Given the description of an element on the screen output the (x, y) to click on. 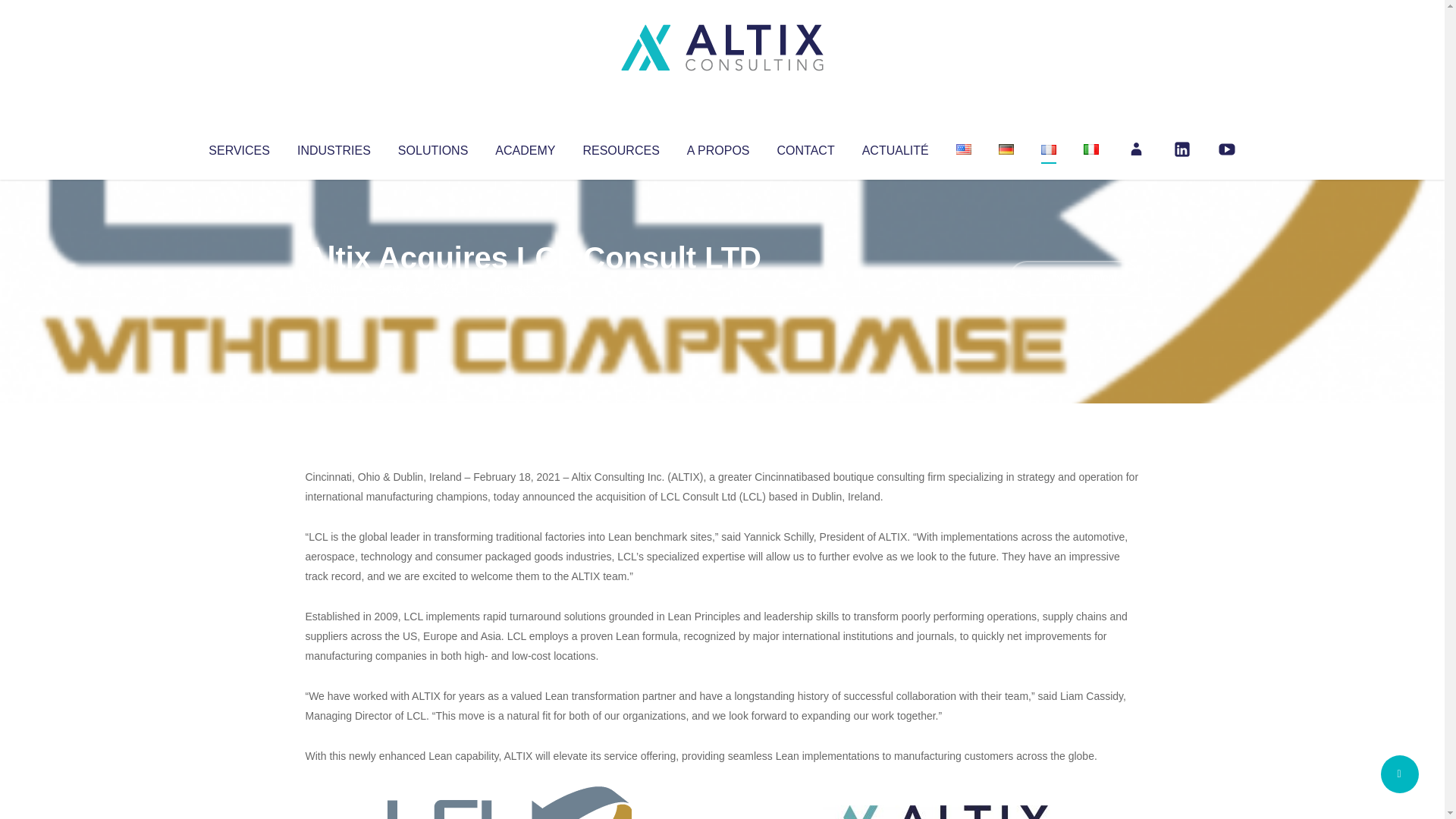
INDUSTRIES (334, 146)
Uncategorized (530, 287)
Altix (333, 287)
ACADEMY (524, 146)
SERVICES (238, 146)
A PROPOS (718, 146)
Articles par Altix (333, 287)
RESOURCES (620, 146)
No Comments (1073, 278)
SOLUTIONS (432, 146)
